Given the description of an element on the screen output the (x, y) to click on. 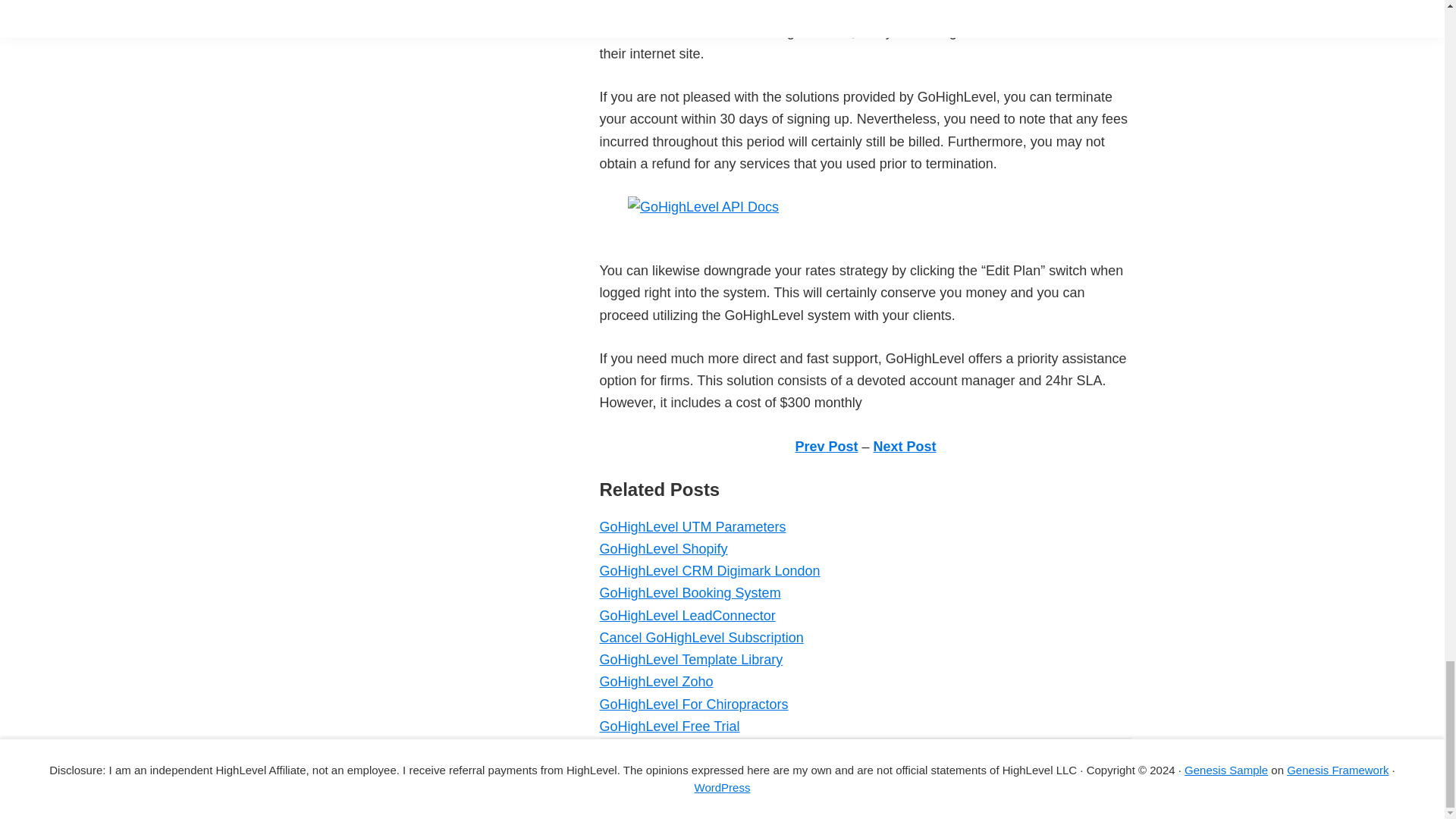
GoHighLevel Shopify (662, 548)
Prev Post (825, 446)
GoHighLevel Free Trial (668, 726)
GoHighLevel Shopify (662, 548)
GoHighLevel Template Library (690, 659)
GoHighLevel Booking System (689, 592)
GoHighLevel LeadConnector (686, 615)
Next Post (904, 446)
GoHighLevel UTM Parameters (692, 526)
GoHighLevel UTM Parameters (692, 526)
